Given the description of an element on the screen output the (x, y) to click on. 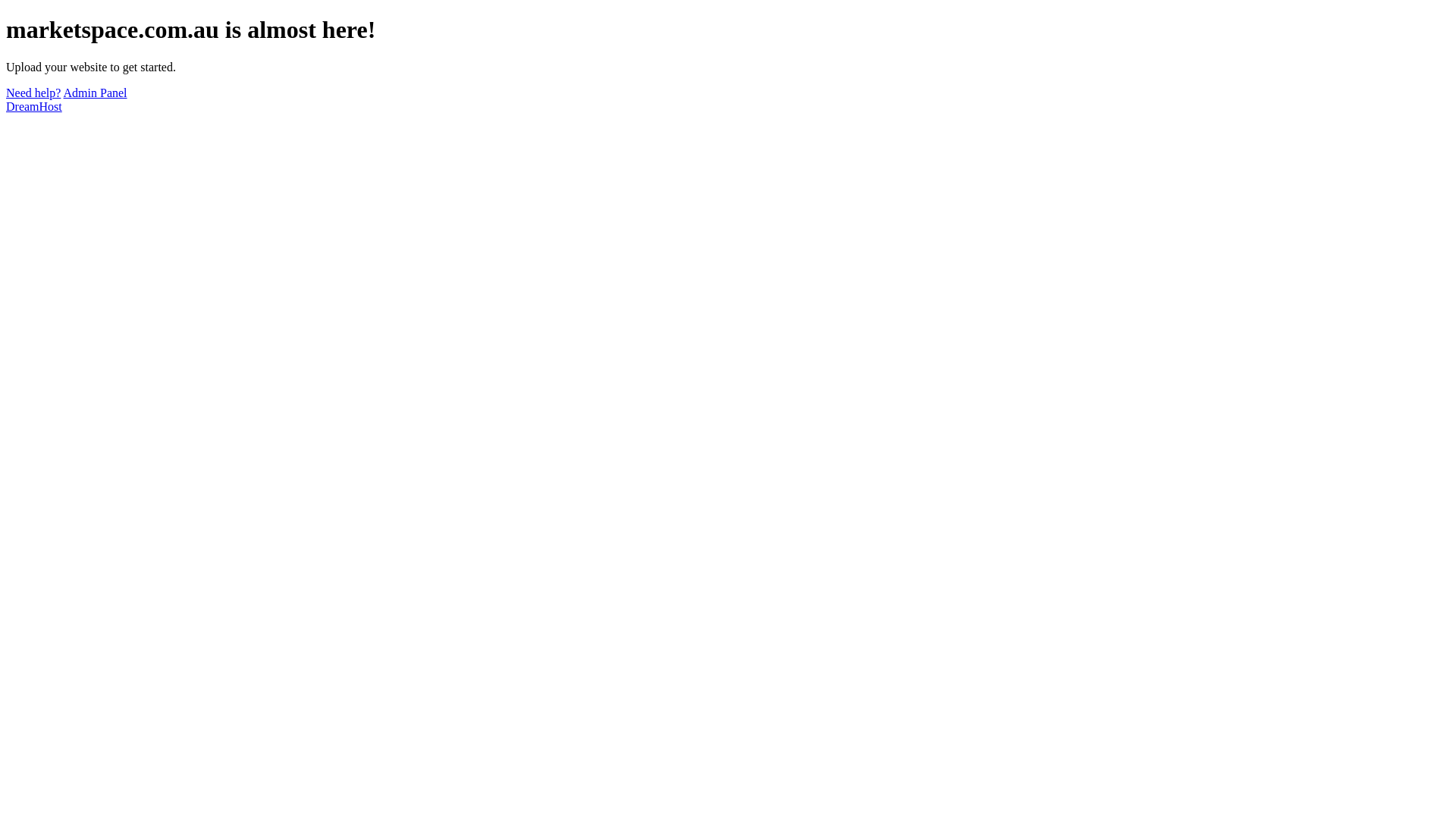
Need help? Element type: text (33, 92)
Admin Panel Element type: text (95, 92)
DreamHost Element type: text (34, 106)
